Given the description of an element on the screen output the (x, y) to click on. 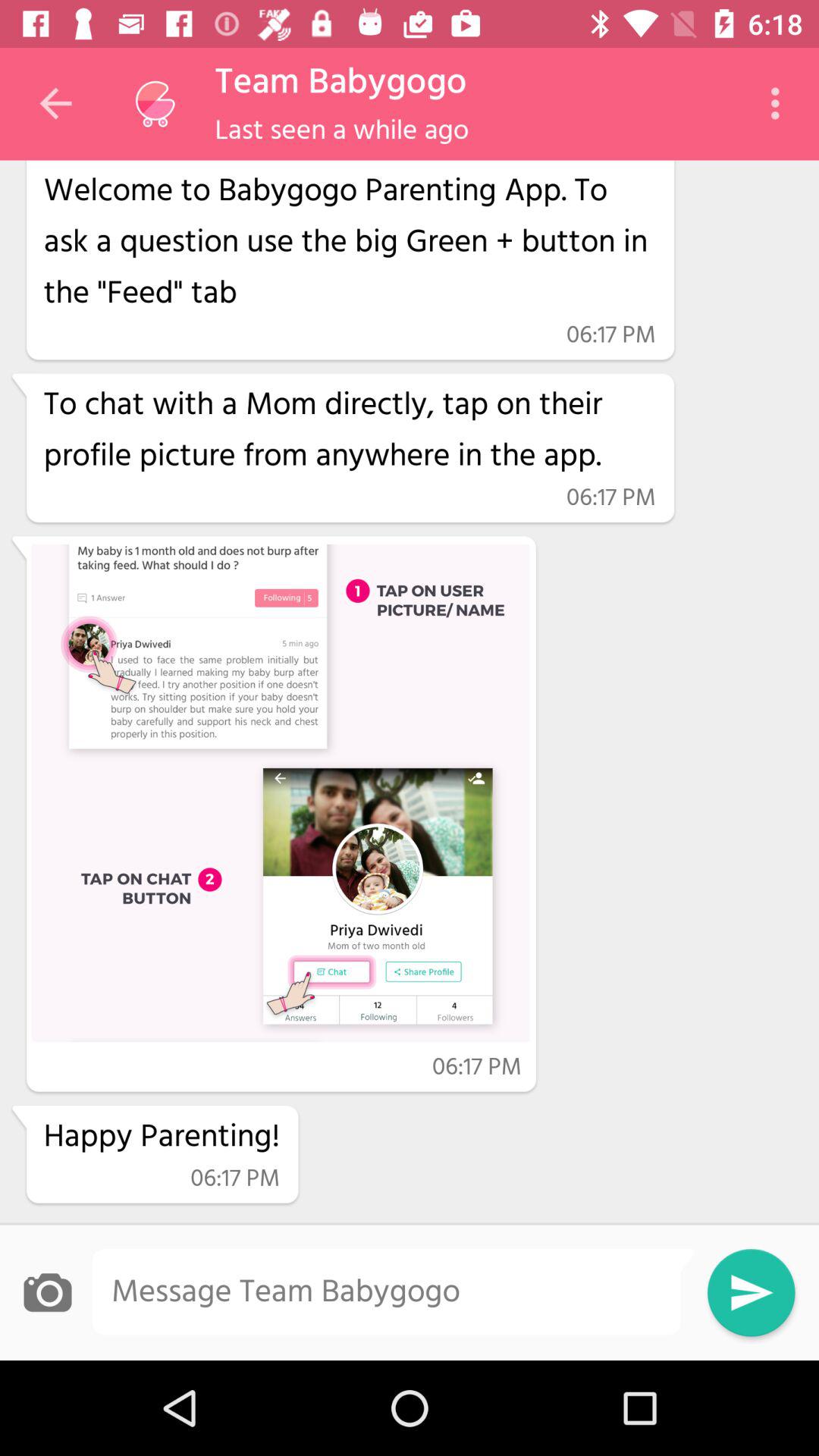
press the item above last seen a icon (340, 82)
